Given the description of an element on the screen output the (x, y) to click on. 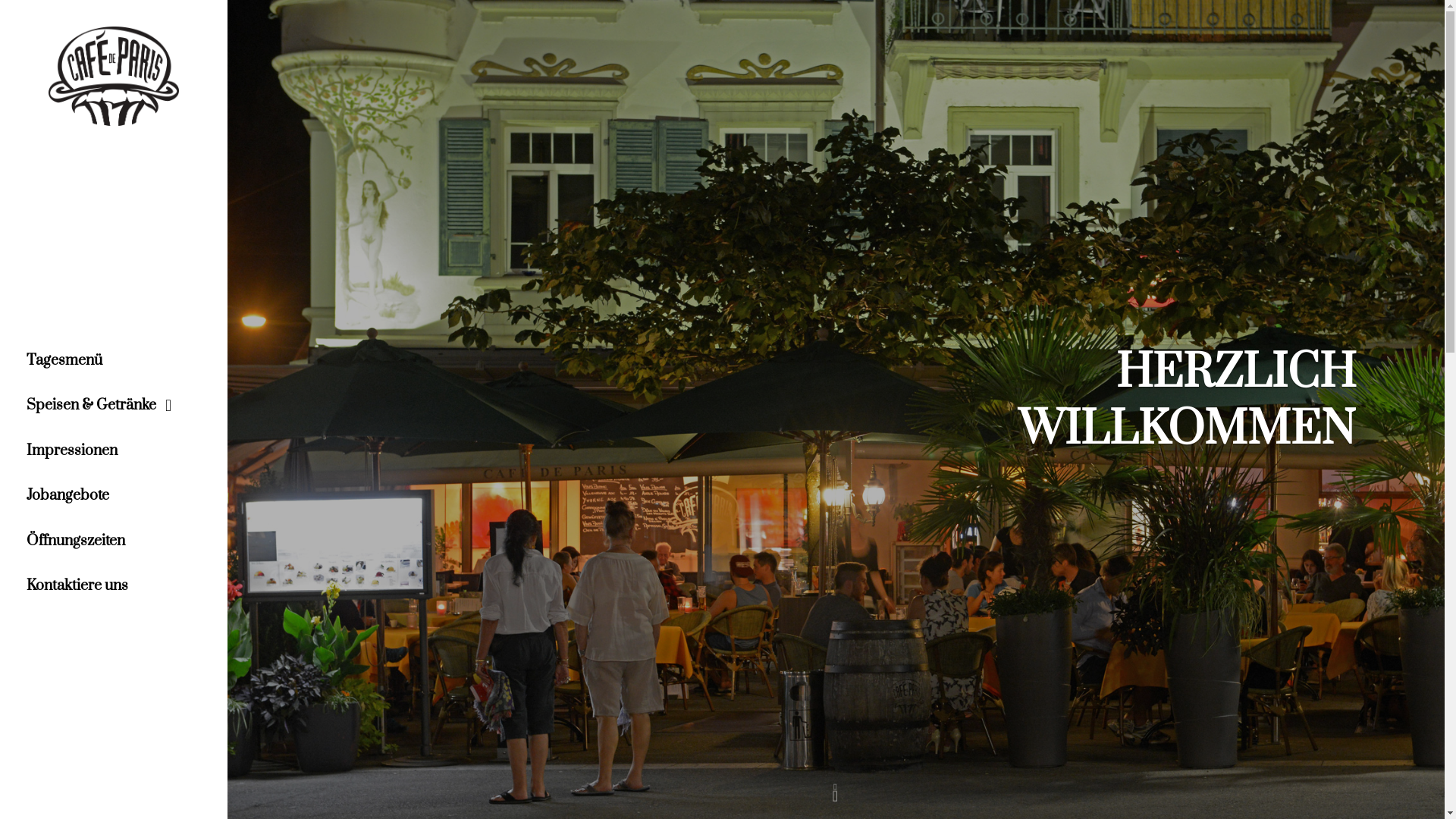
Jobangebote Element type: text (113, 495)
Impressionen Element type: text (113, 450)
Kontaktiere uns Element type: text (113, 585)
